Given the description of an element on the screen output the (x, y) to click on. 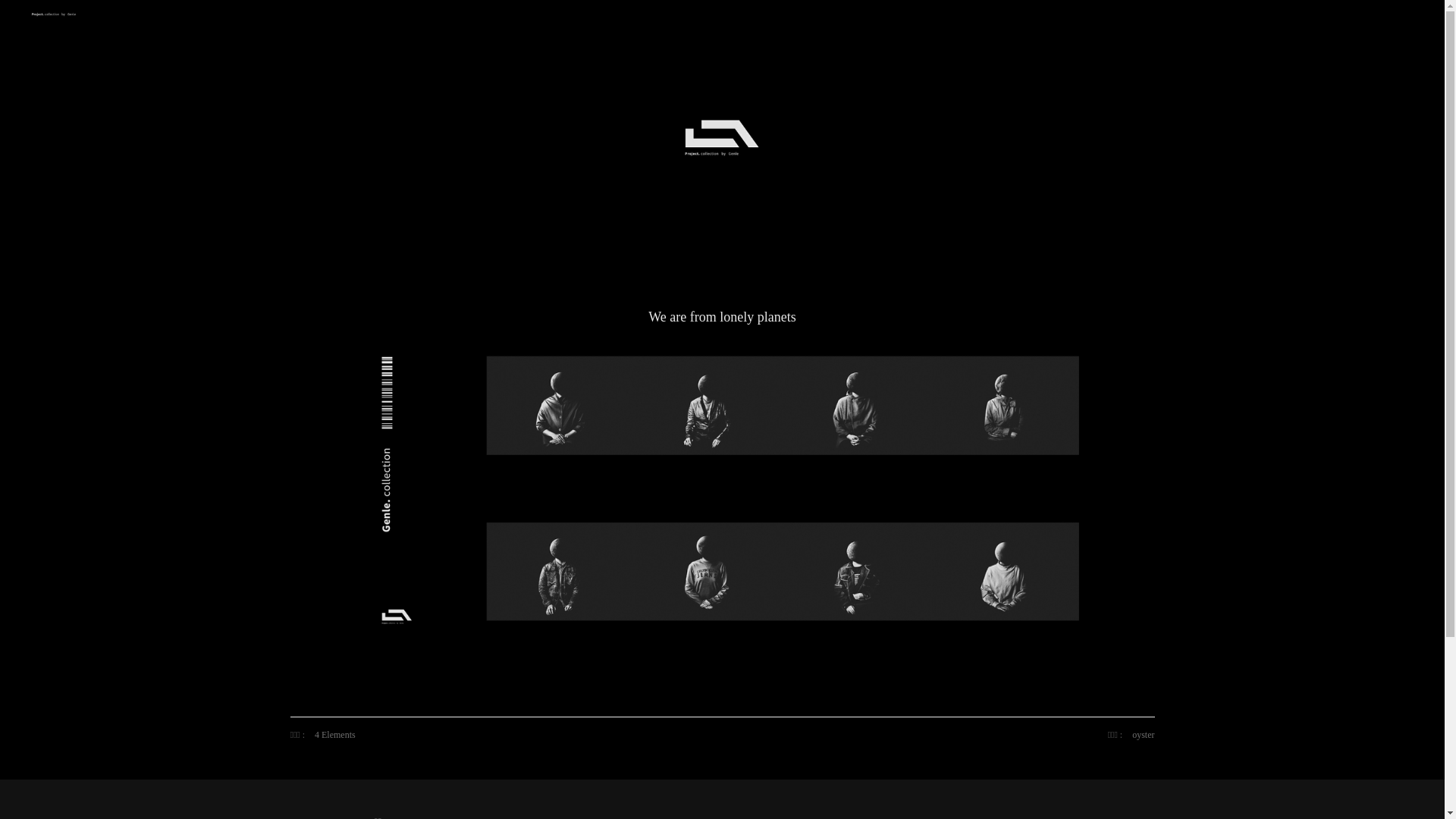
oyster Element type: text (1143, 734)
4 Elements Element type: text (334, 734)
